Given the description of an element on the screen output the (x, y) to click on. 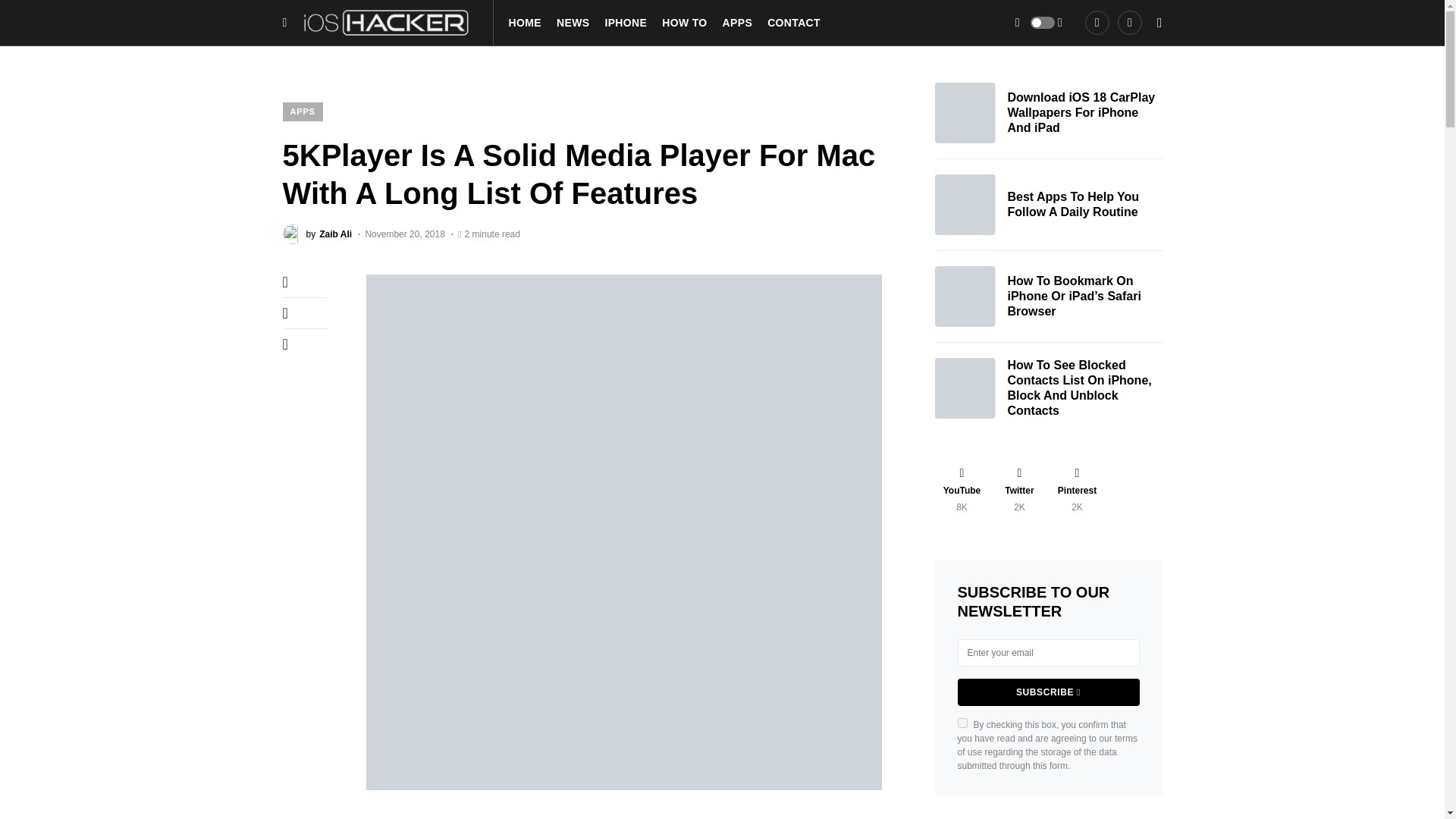
View all posts by Zaib Ali (317, 234)
on (961, 723)
